Given the description of an element on the screen output the (x, y) to click on. 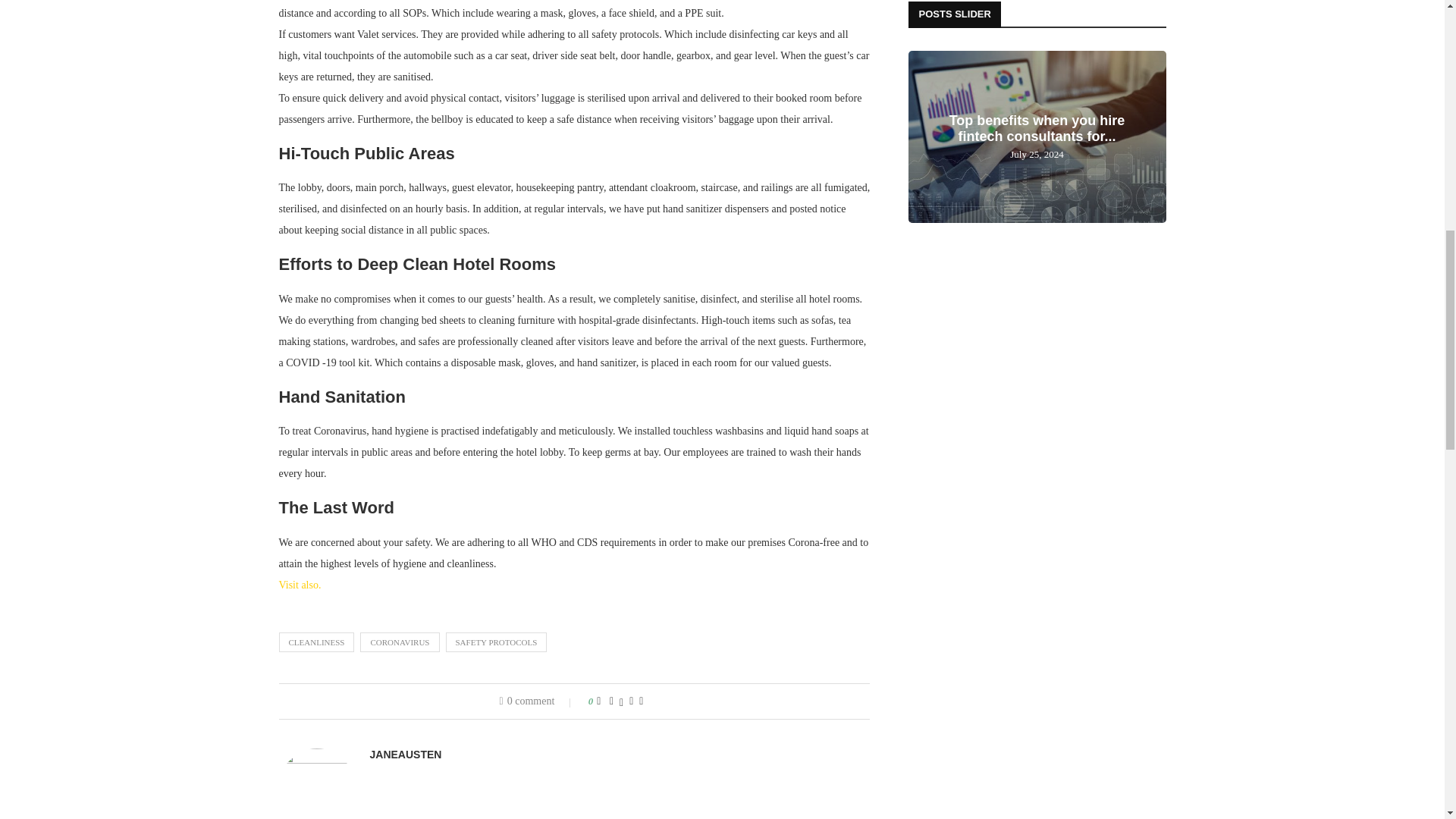
JANEAUSTEN (405, 754)
SAFETY PROTOCOLS (496, 641)
Visit also. (300, 584)
CLEANLINESS (317, 641)
CORONAVIRUS (399, 641)
Author janeausten (405, 754)
